Given the description of an element on the screen output the (x, y) to click on. 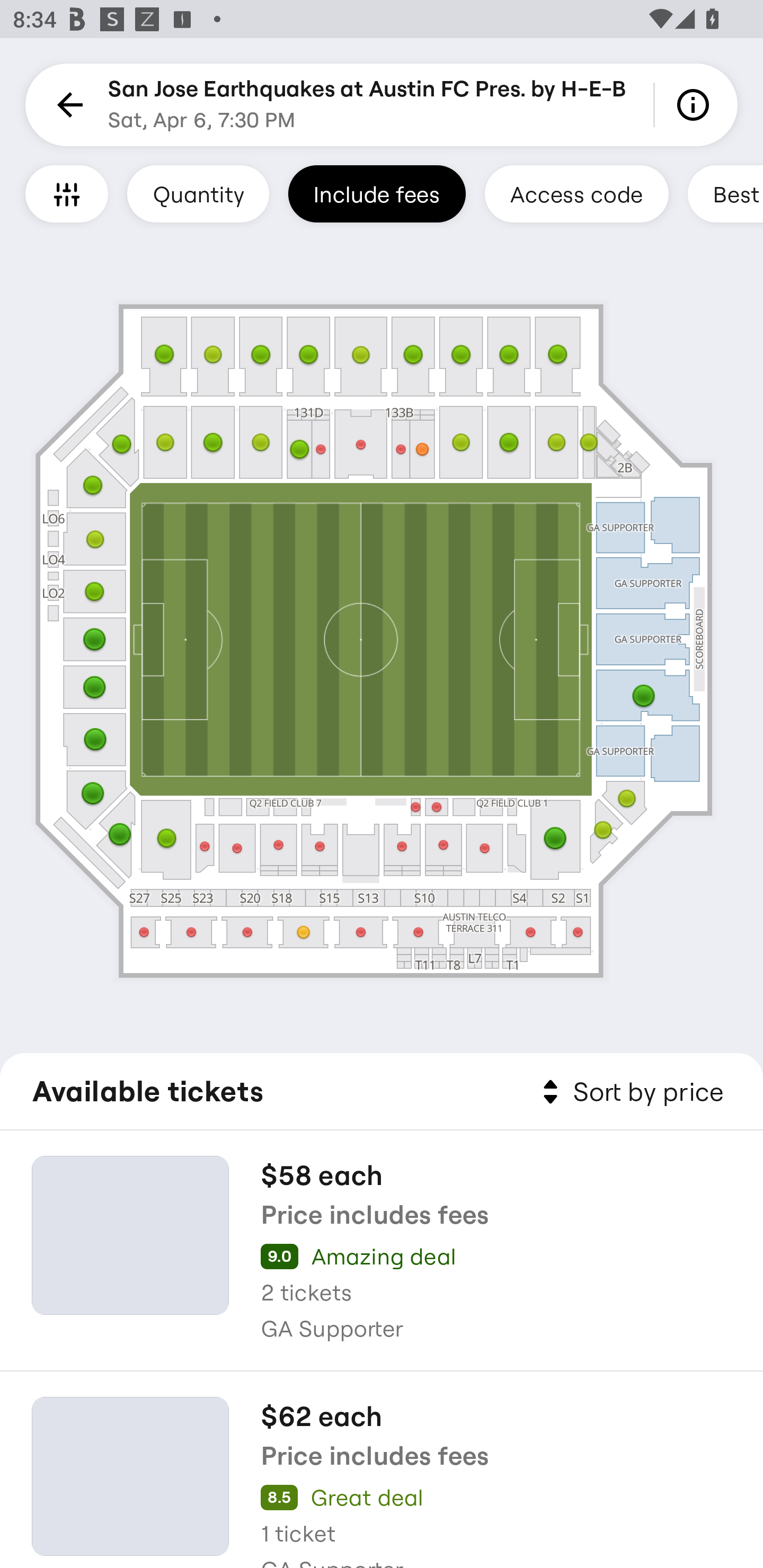
Back (66, 104)
Info (695, 104)
Filters and Accessible Seating (66, 193)
Quantity (198, 193)
Include fees (376, 193)
Access code (576, 193)
Sort by price (629, 1091)
